Given the description of an element on the screen output the (x, y) to click on. 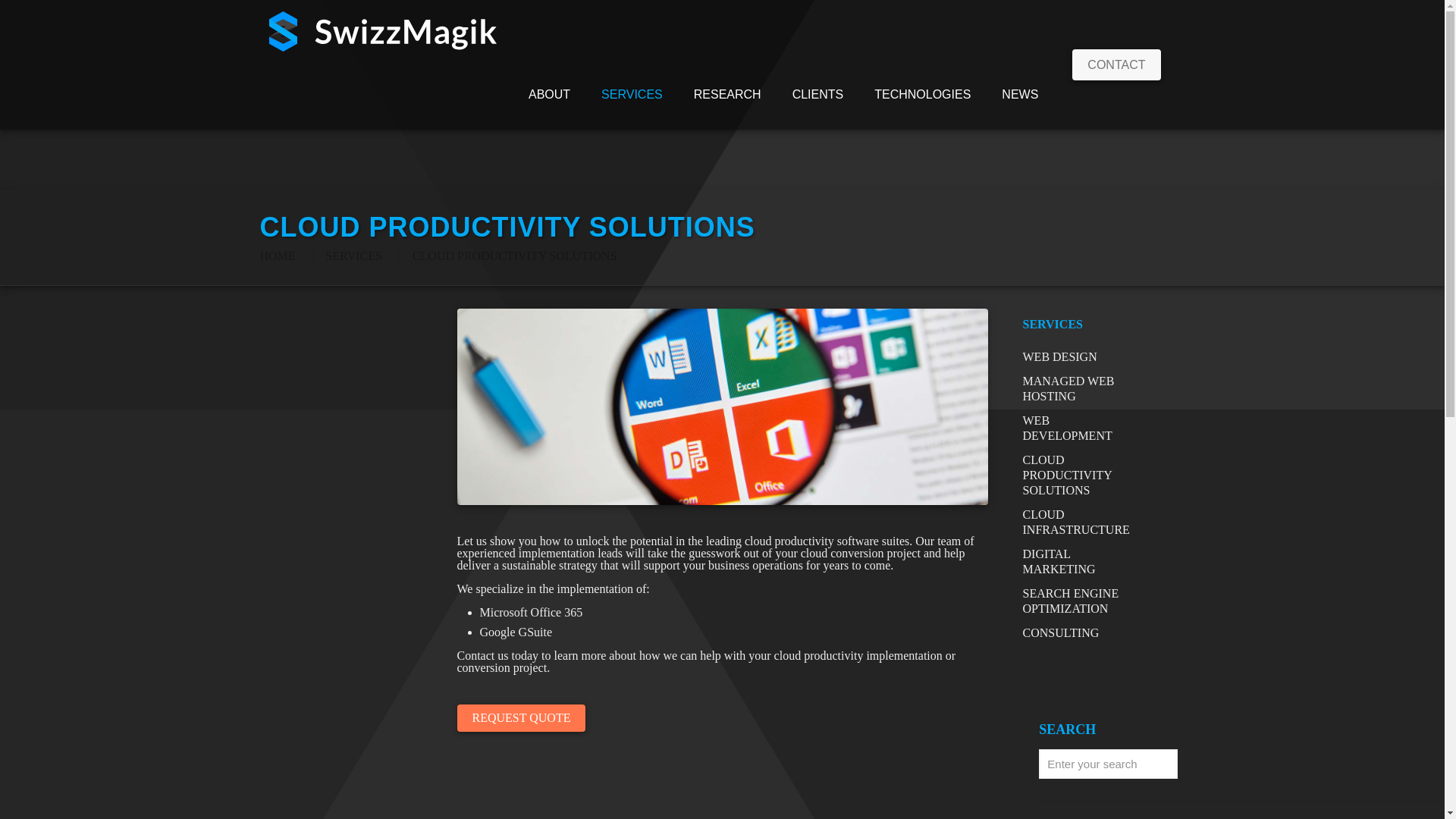
HOME (277, 255)
Orange County Web Technologies (923, 94)
ABOUT (549, 94)
SERVICES (353, 255)
OC TECH Clients (818, 94)
CONTACT (1115, 63)
SwizzMagik (381, 30)
SERVICES (632, 94)
Orange County Technology Research Firm (727, 94)
REQUEST QUOTE (521, 718)
CLOUD PRODUCTIVITY SOLUTIONS (514, 255)
ABOUT WEB SERVICES (549, 94)
Orange County Web Services (632, 94)
CLIENTS (818, 94)
RESEARCH (727, 94)
